Given the description of an element on the screen output the (x, y) to click on. 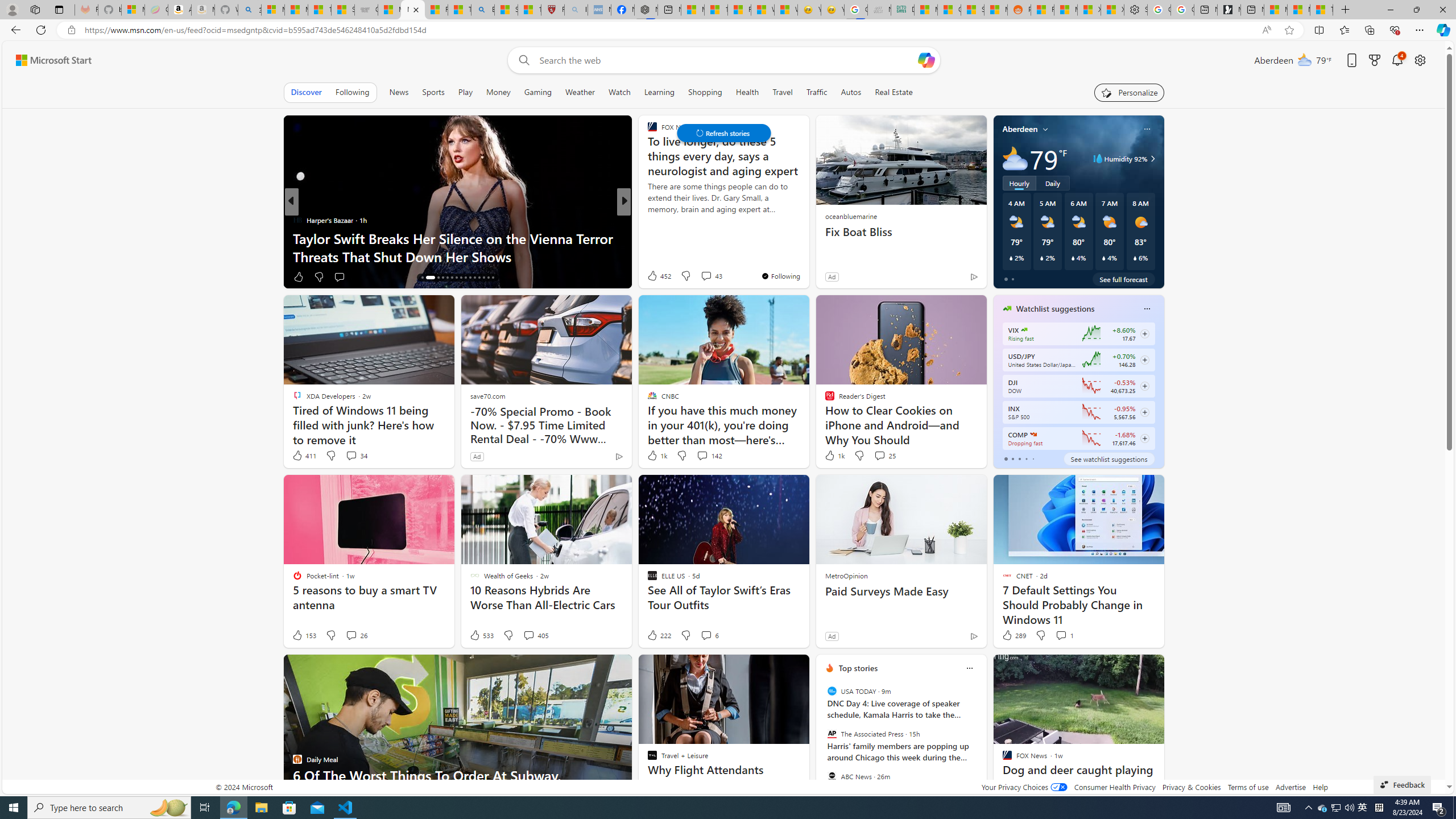
oceanbluemarine (850, 215)
My location (1045, 128)
The Cool Down (647, 219)
View comments 43 Comment (705, 275)
AutomationID: tab-25 (470, 277)
5 Ways To Use Your TV's USB Ports (807, 256)
tab-1 (1012, 458)
Watchlist suggestions (1055, 308)
